Given the description of an element on the screen output the (x, y) to click on. 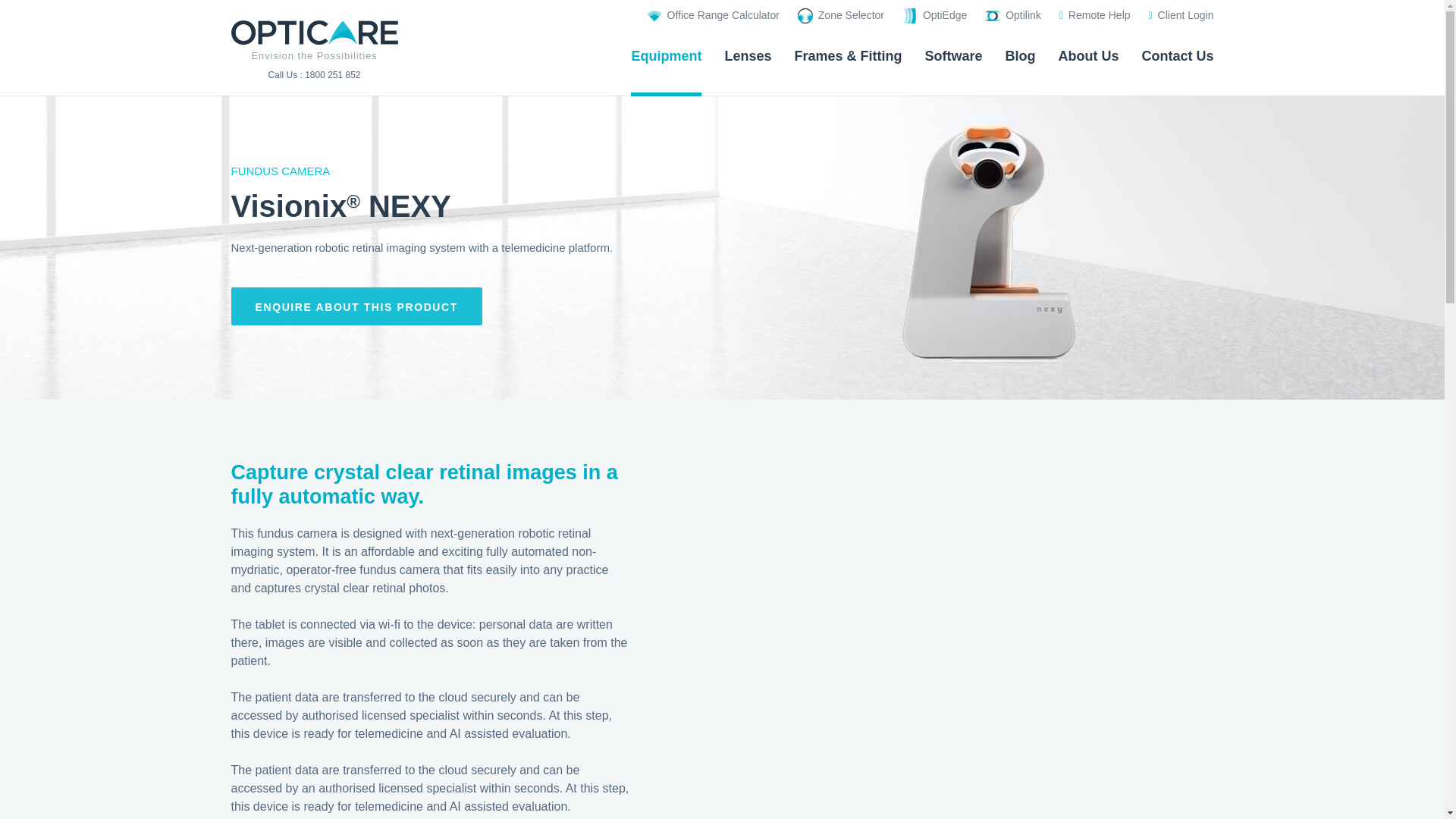
1800 251 852 (331, 74)
Optilink (1013, 15)
Equipment (665, 60)
Client Login (1180, 15)
Zone Selector (840, 15)
Remote Help (1095, 15)
Office Range Calculator (712, 15)
YouTube video player (943, 592)
OptiEdge (934, 15)
